Given the description of an element on the screen output the (x, y) to click on. 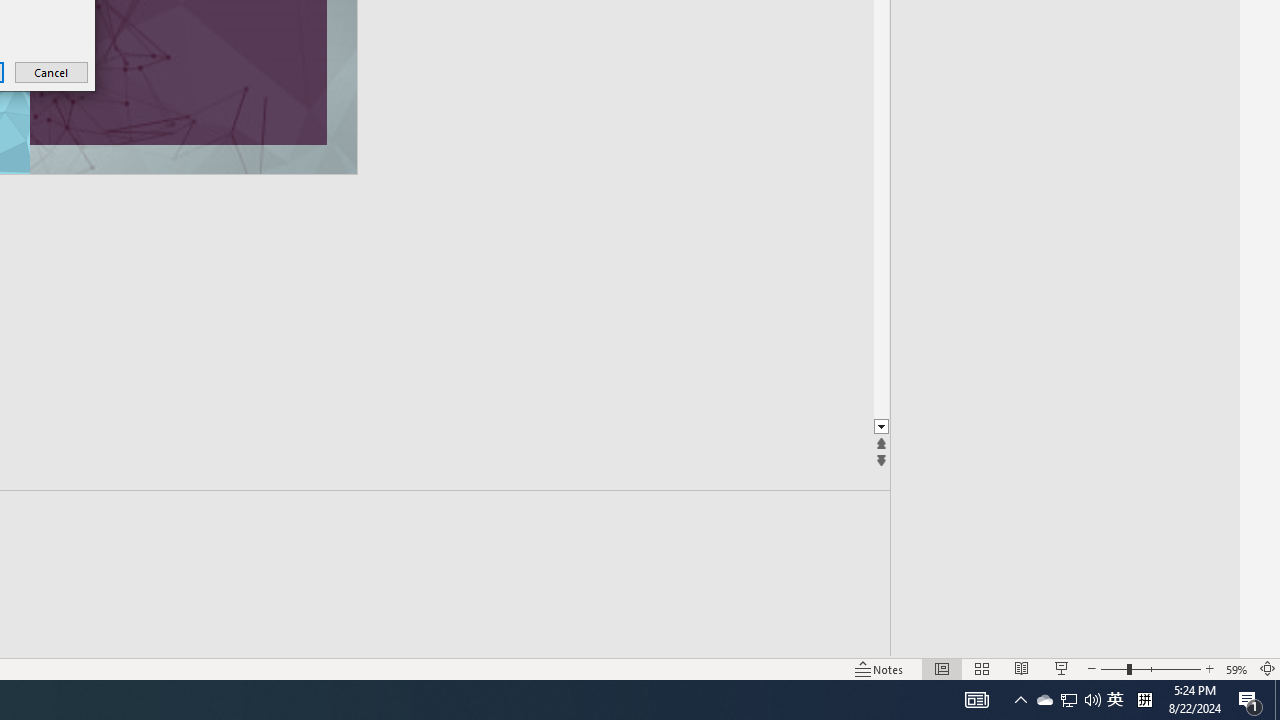
Zoom 59% (1236, 668)
System Promoted Notification Area (1044, 699)
